Given the description of an element on the screen output the (x, y) to click on. 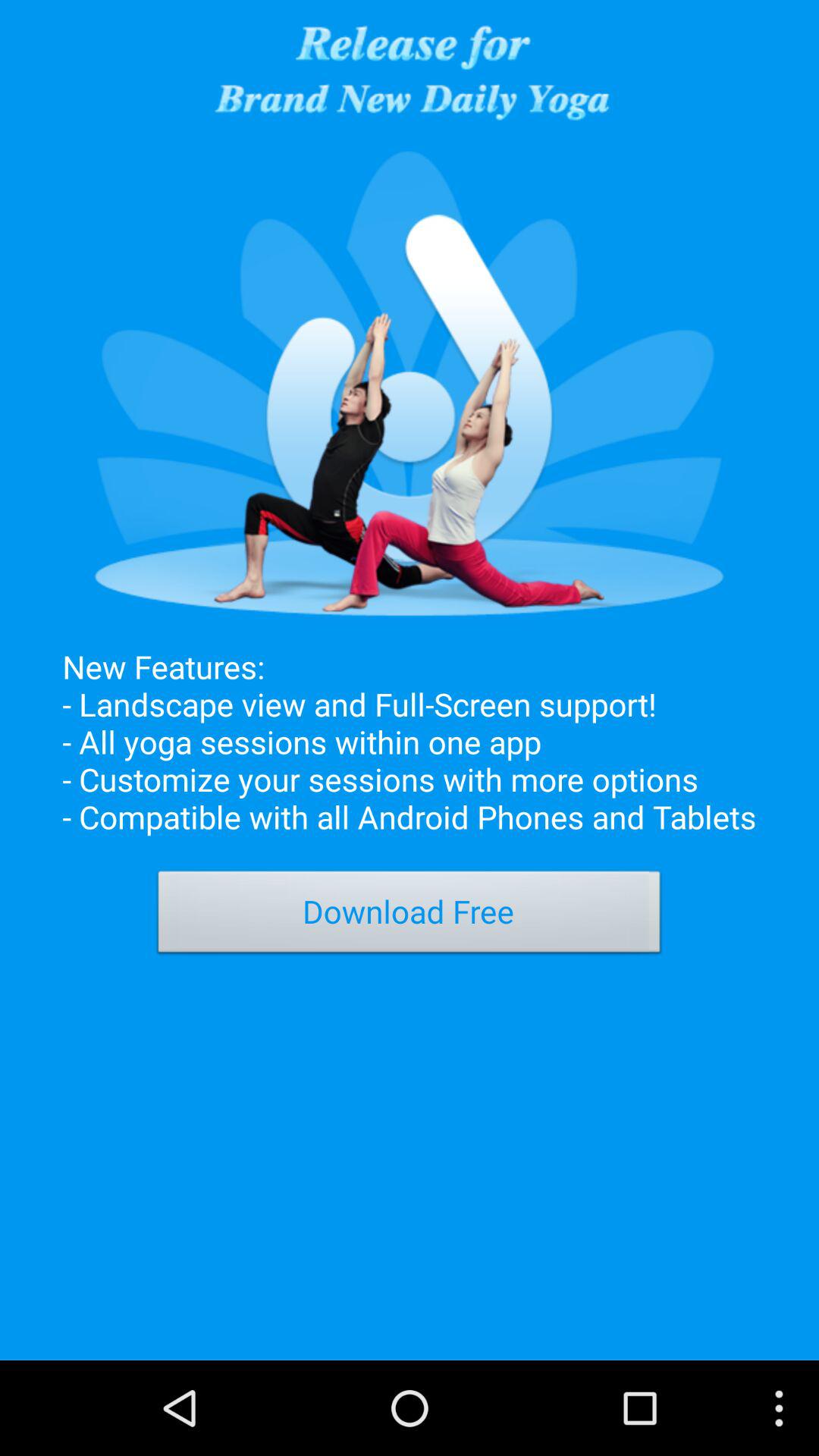
open the download free item (409, 916)
